Given the description of an element on the screen output the (x, y) to click on. 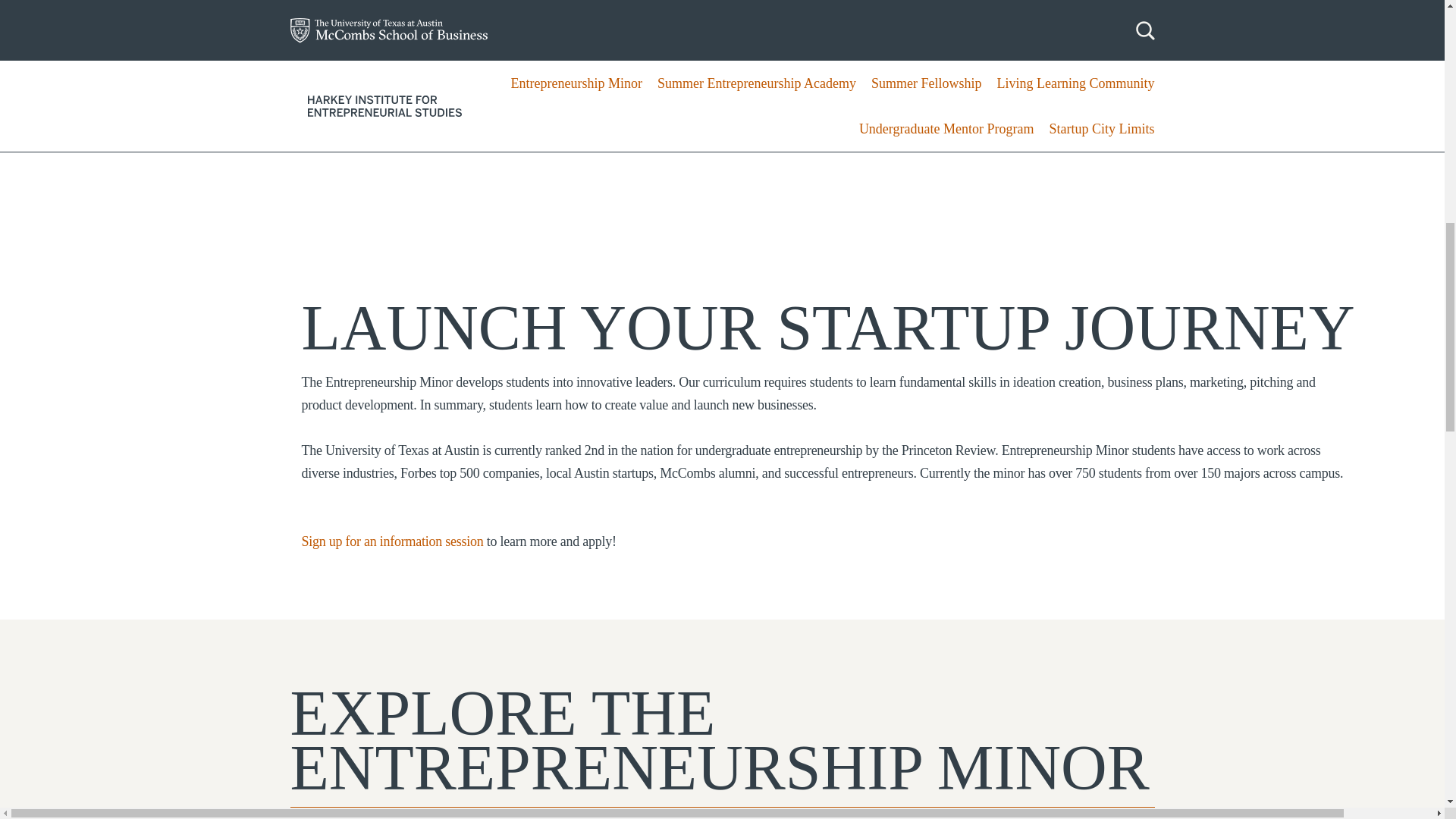
Sign up for an information session (392, 540)
